Given the description of an element on the screen output the (x, y) to click on. 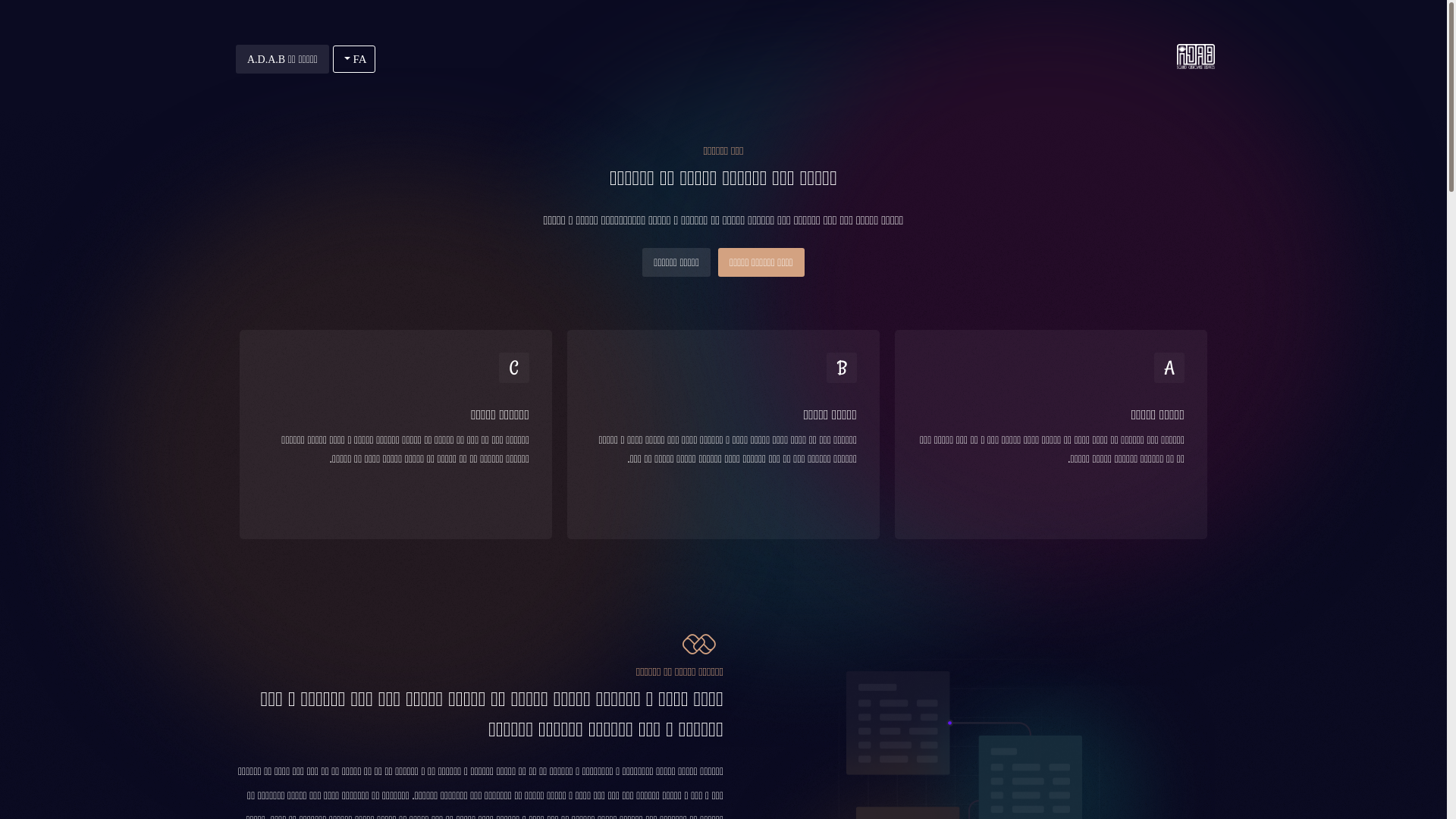
FA Element type: text (353, 58)
